Given the description of an element on the screen output the (x, y) to click on. 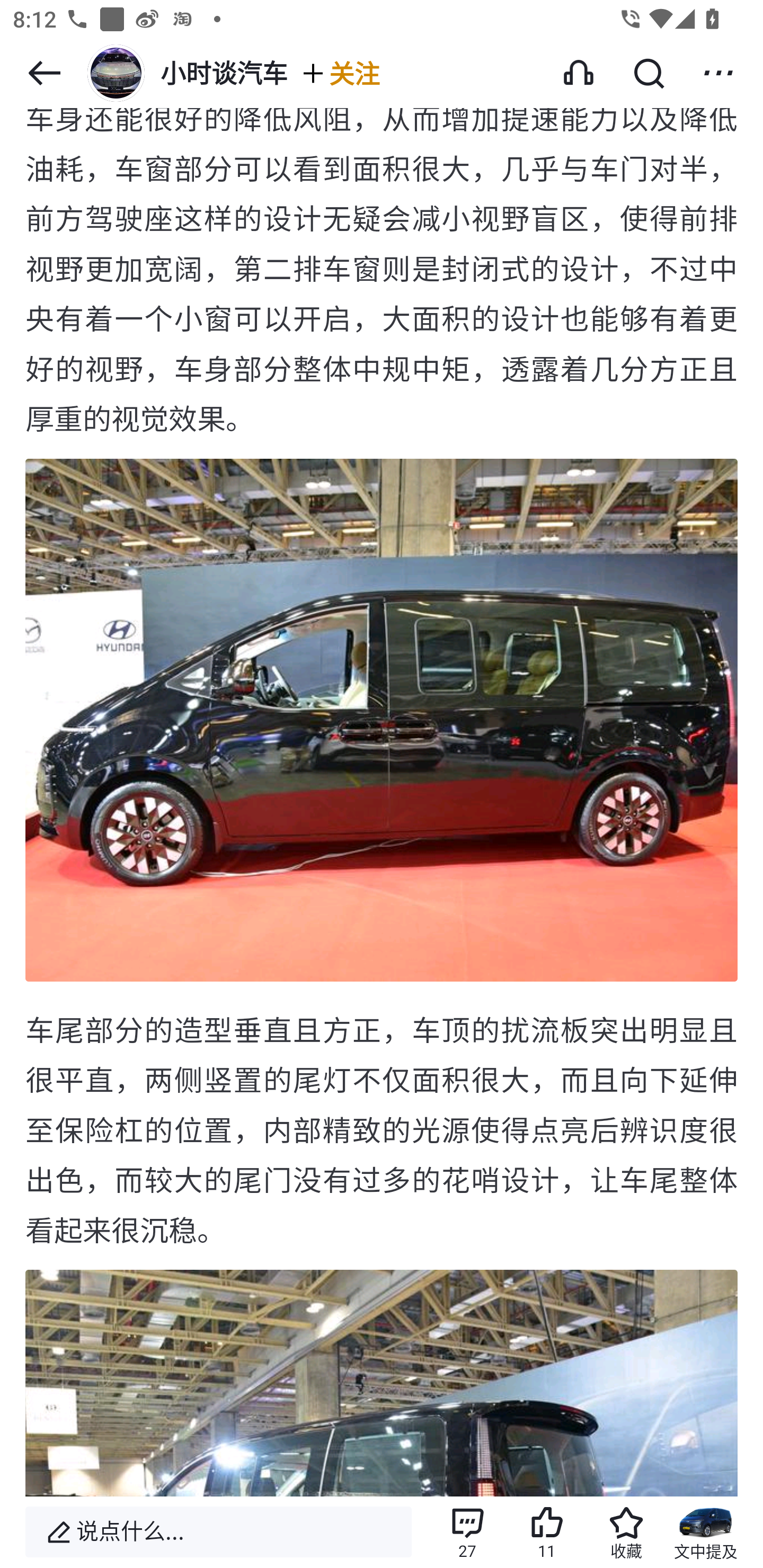
小时谈汽车 (185, 72)
 (44, 72)
 (648, 72)
 (718, 72)
 关注 (339, 73)
 27 (467, 1531)
11 (546, 1531)
收藏 (625, 1531)
文中提及 (705, 1531)
 说点什么... (218, 1531)
